Given the description of an element on the screen output the (x, y) to click on. 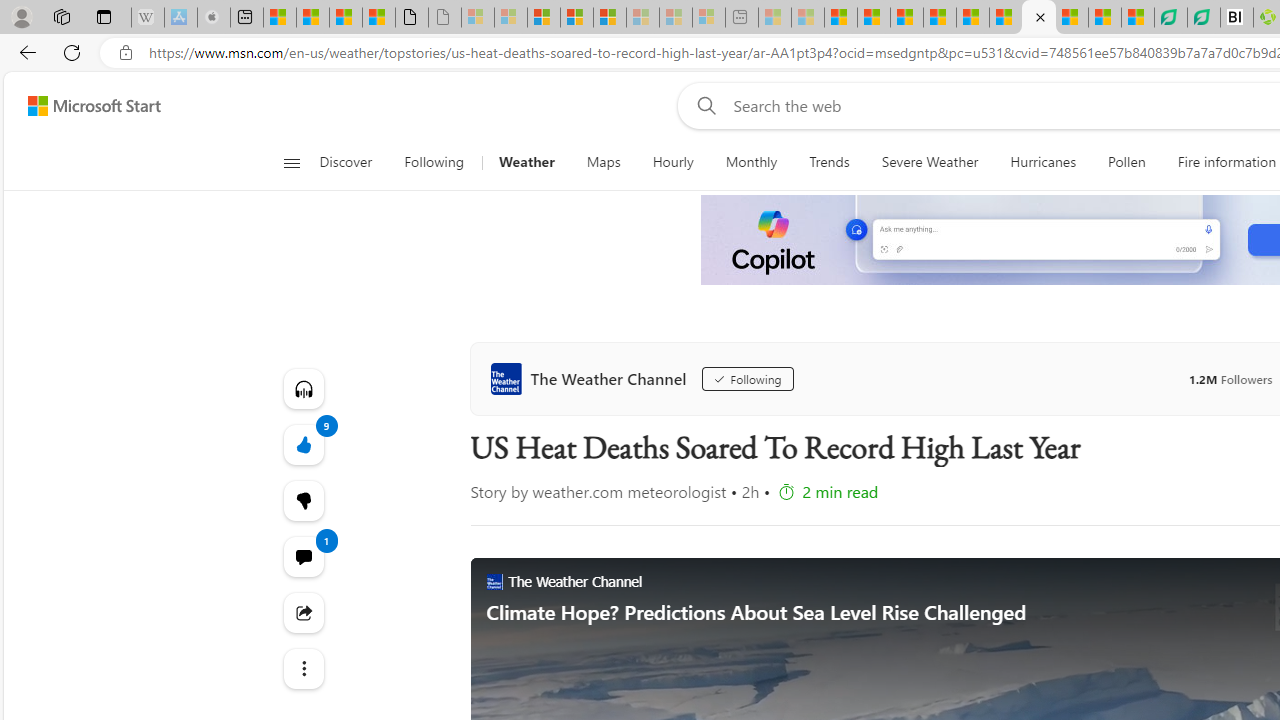
Class: at-item (302, 668)
Monthly (751, 162)
Aberdeen, Hong Kong SAR severe weather | Microsoft Weather (379, 17)
LendingTree - Compare Lenders (1203, 17)
Marine life - MSN - Sleeping (808, 17)
Monthly (751, 162)
Maps (603, 162)
Share this story (302, 612)
